Given the description of an element on the screen output the (x, y) to click on. 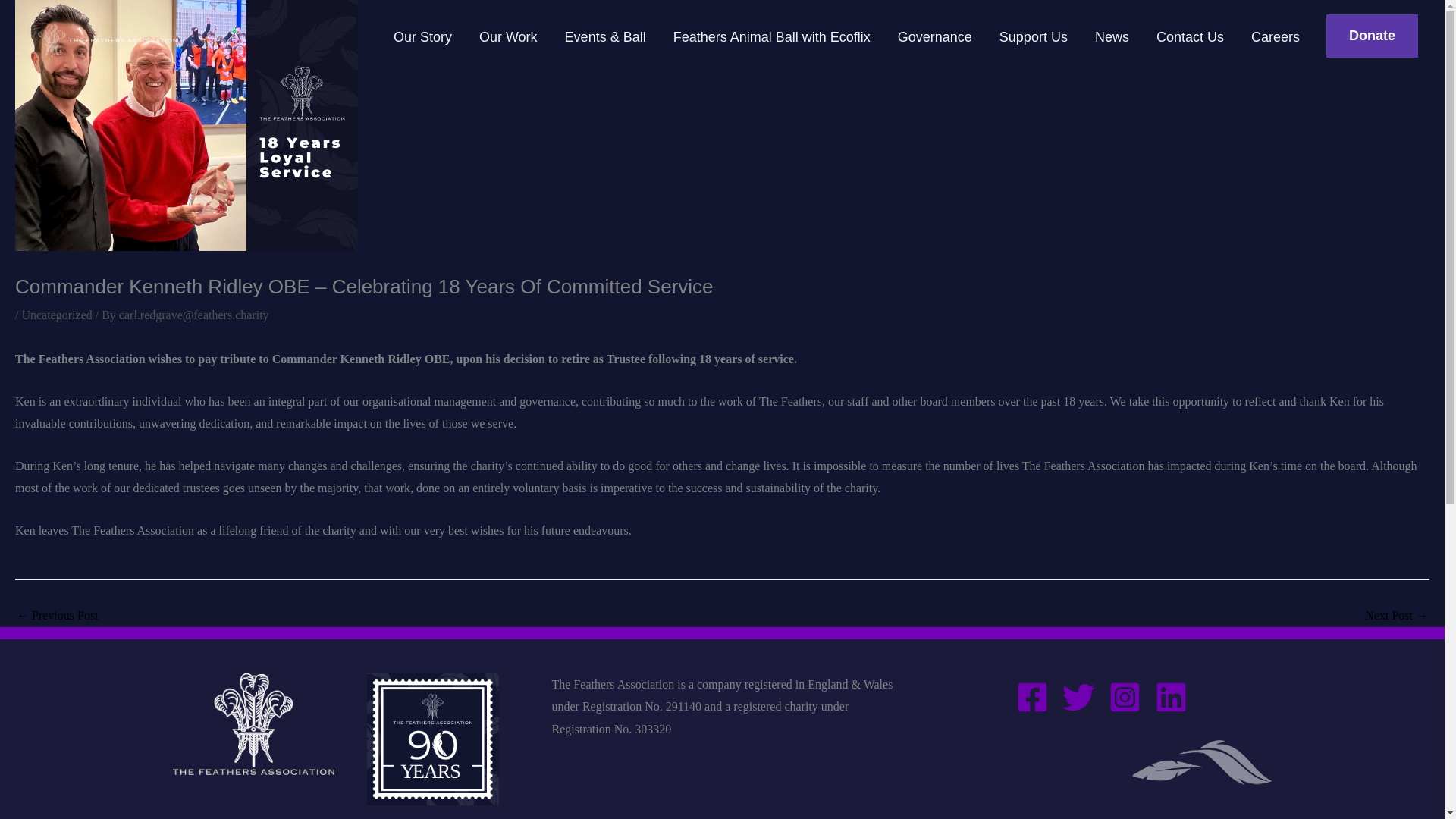
Donate (1372, 35)
Feathers Marylebone: Summer Programme (1396, 615)
Untitled-design-26-3 (432, 739)
Careers (1275, 35)
News (1111, 35)
Governance (934, 35)
Feathers Animal Ball with Ecoflix (771, 35)
Our Work (508, 35)
Visiting Hopefield Farm With Leona Lewis (57, 615)
Our Story (422, 35)
